Given the description of an element on the screen output the (x, y) to click on. 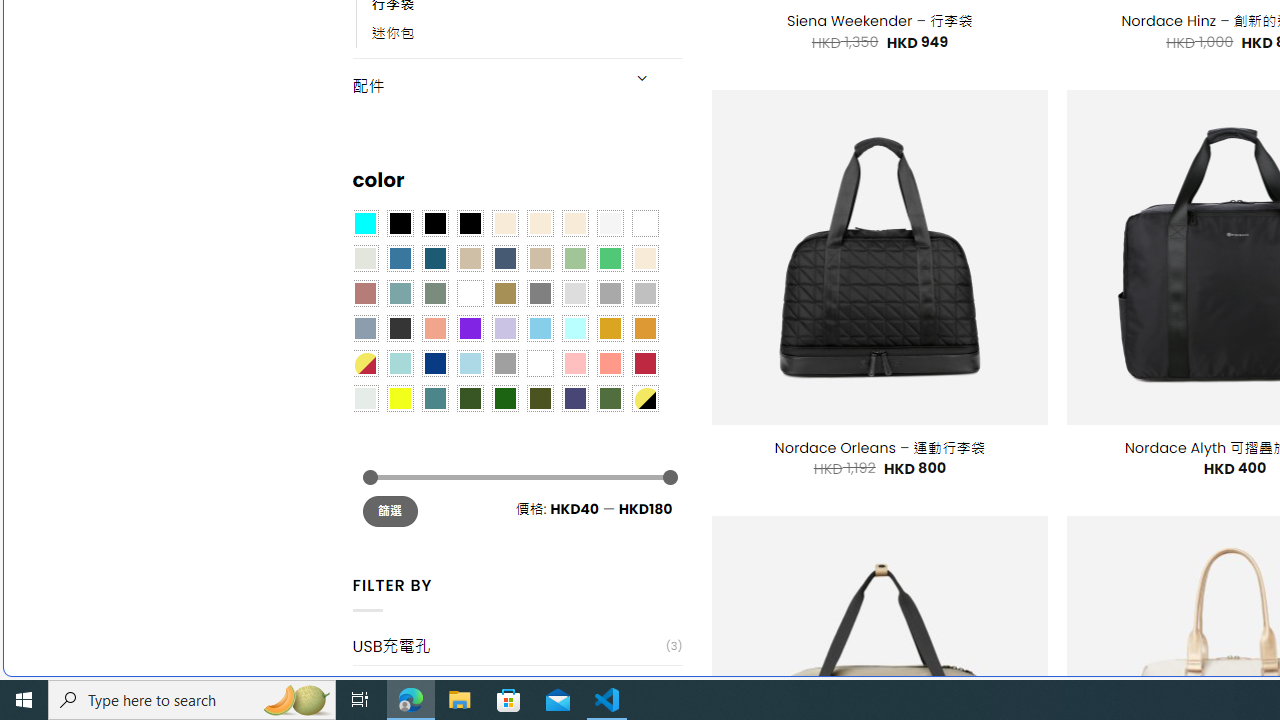
Dull Nickle (364, 398)
